Given the description of an element on the screen output the (x, y) to click on. 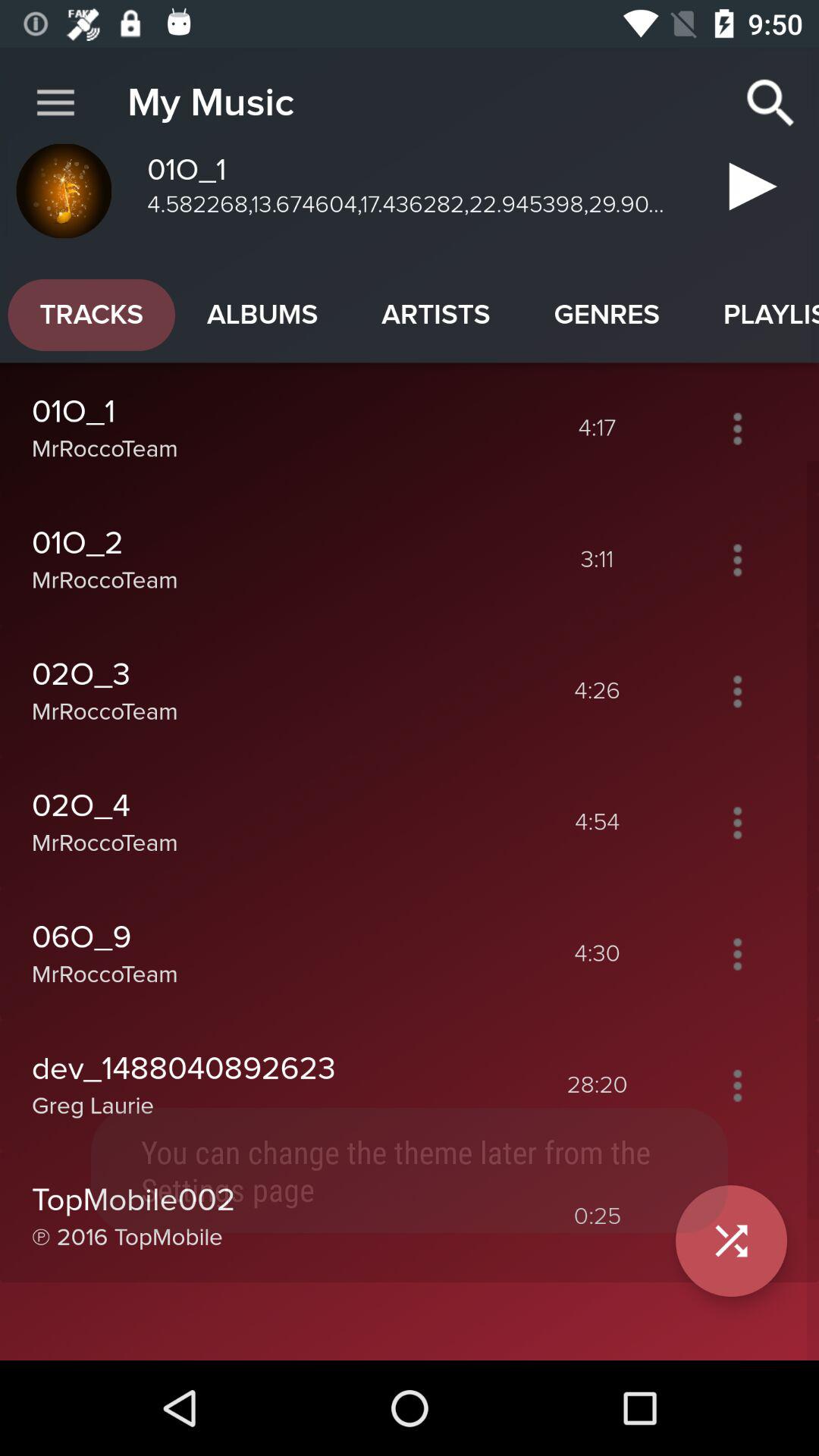
more information on 01o_2 (737, 559)
